Given the description of an element on the screen output the (x, y) to click on. 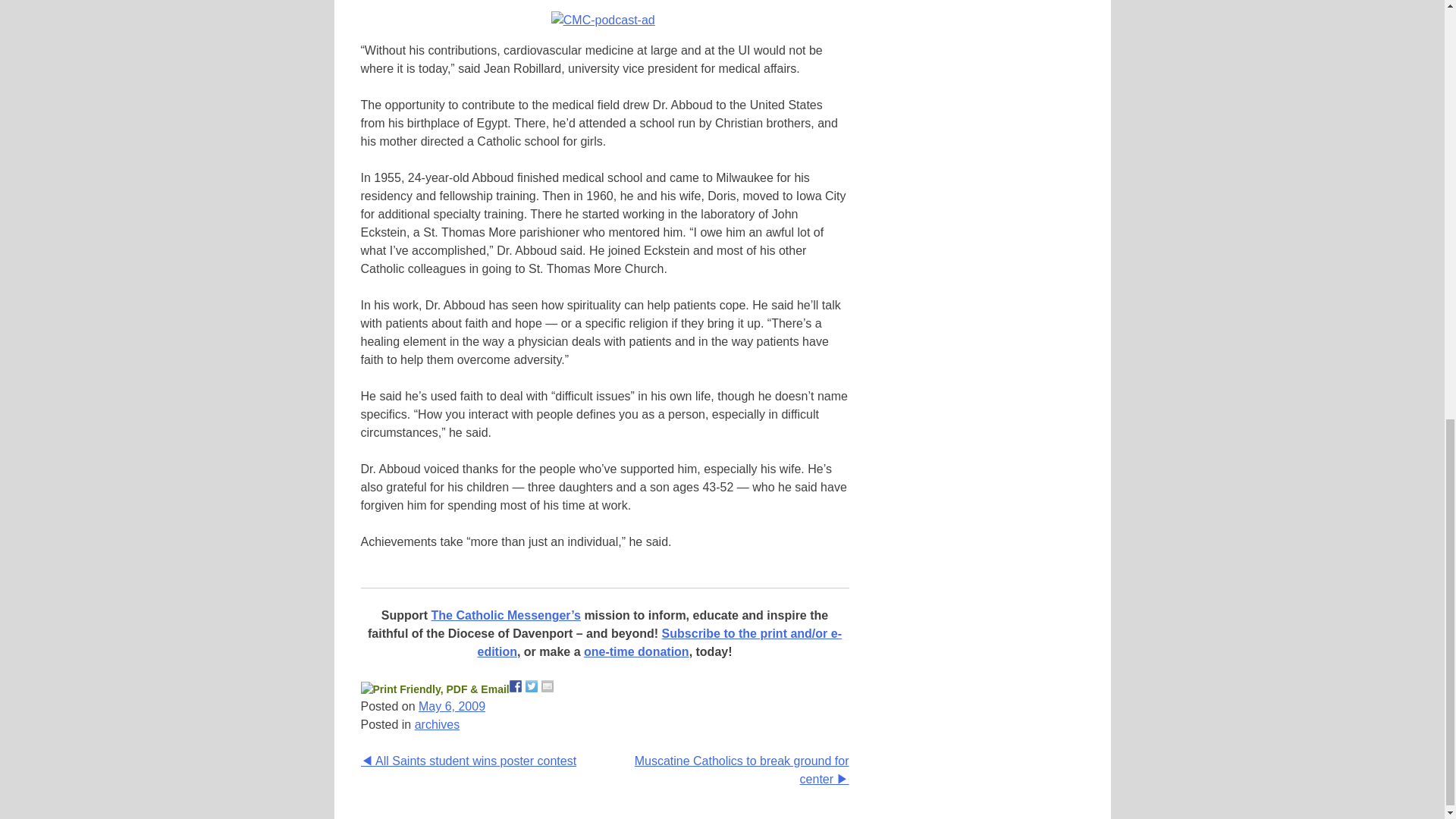
Share by email (547, 686)
Share on Facebook (515, 686)
Share on Twitter (531, 686)
